Given the description of an element on the screen output the (x, y) to click on. 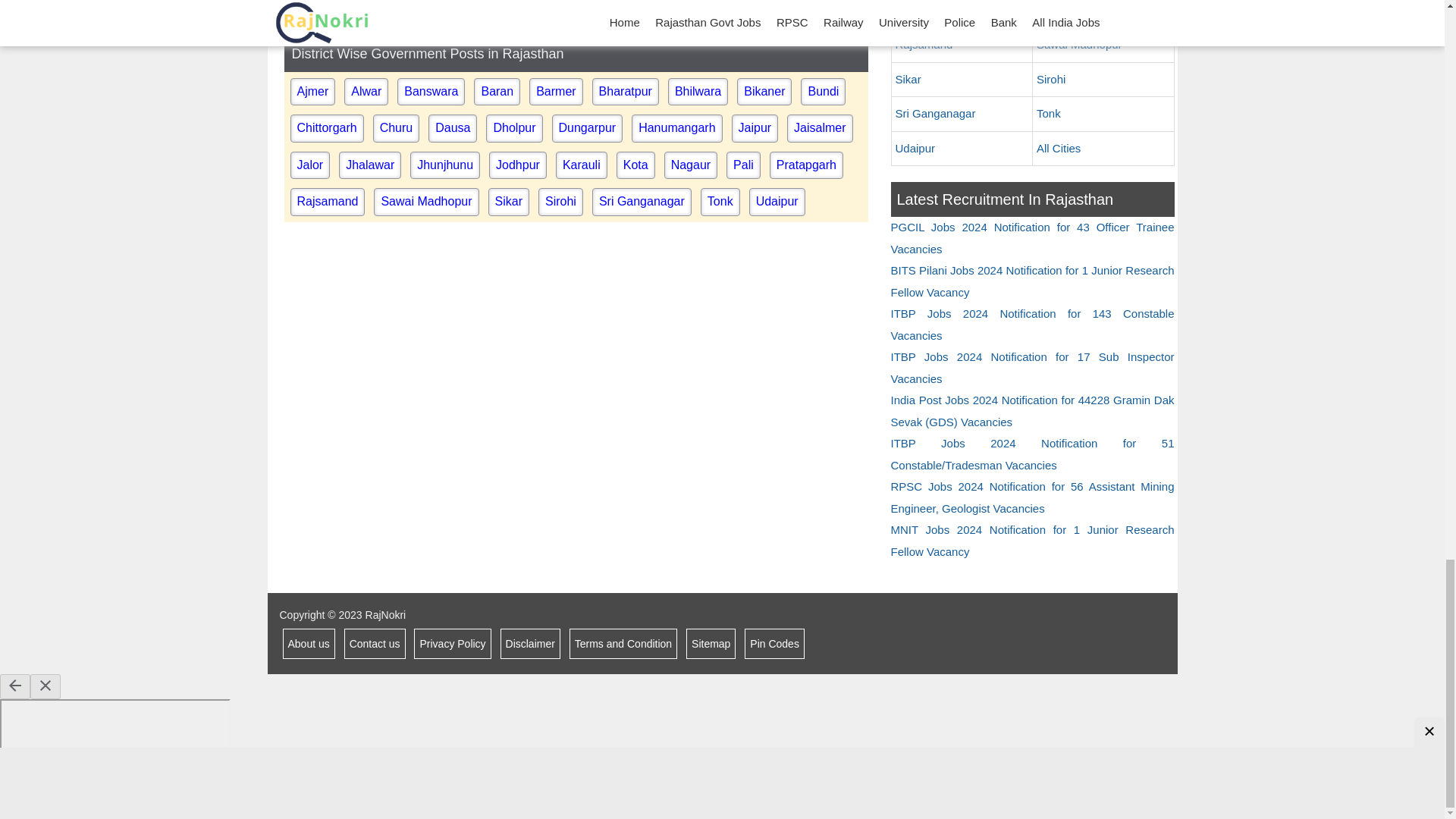
Click Here (770, 6)
Pratapgarh (806, 165)
Baran (496, 91)
Kota (635, 165)
Jaisalmer (819, 127)
Banswara (430, 91)
Churu (396, 127)
Bharatpur (625, 91)
Jhunjhunu (445, 165)
Karauli (581, 165)
Barmer (555, 91)
Alwar (365, 91)
Nagaur (690, 165)
Jalor (309, 165)
Jaipur (755, 127)
